Given the description of an element on the screen output the (x, y) to click on. 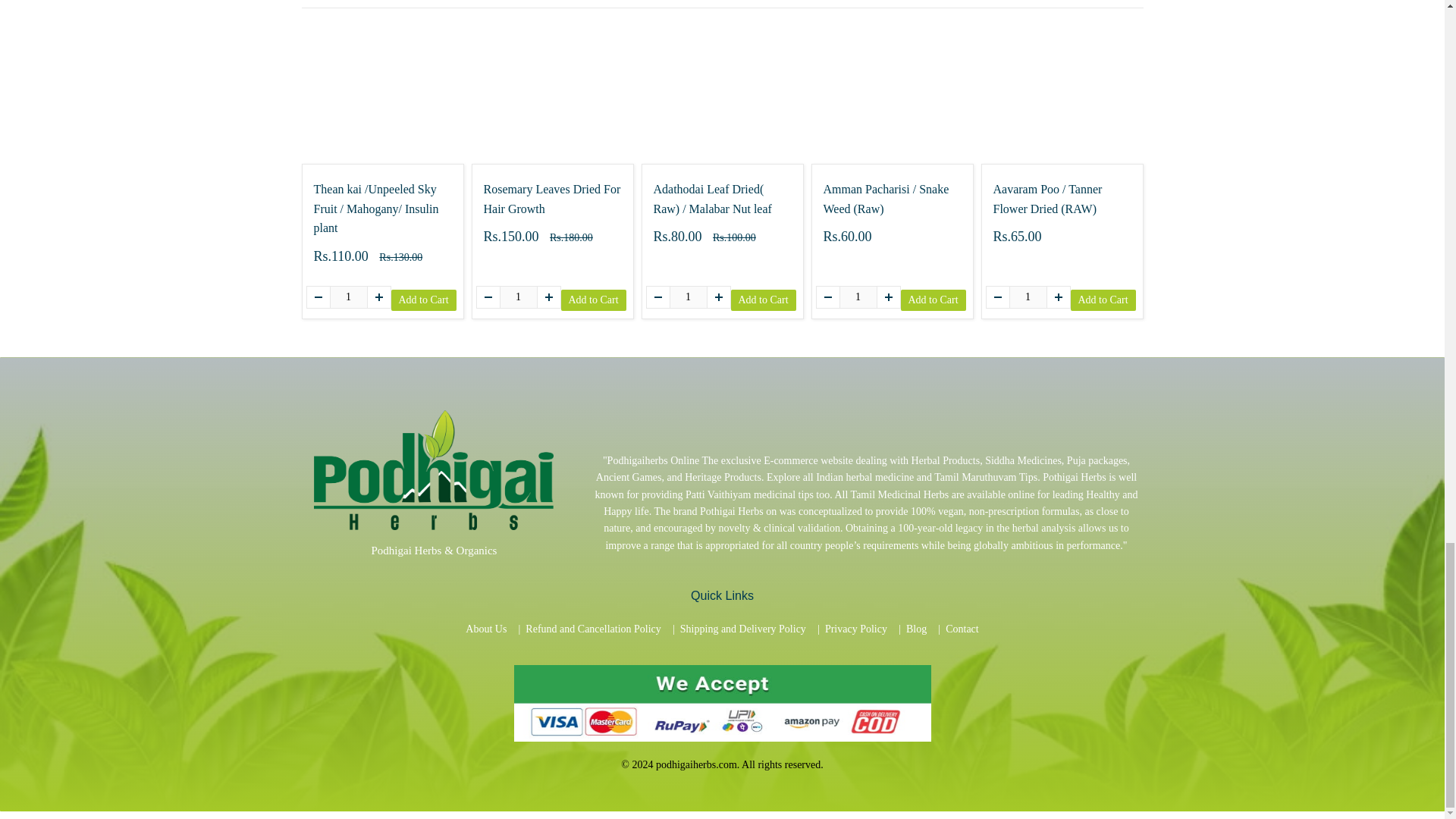
Refund and Cancellation Policy (593, 629)
quantity (687, 296)
quantity (347, 296)
quantity (1027, 296)
About Us (485, 629)
quantity (857, 296)
1 (347, 296)
1 (687, 296)
1 (518, 296)
1 (857, 296)
quantity (518, 296)
1 (1027, 296)
Privacy Policy (855, 629)
Shipping and Delivery Policy (742, 629)
